Given the description of an element on the screen output the (x, y) to click on. 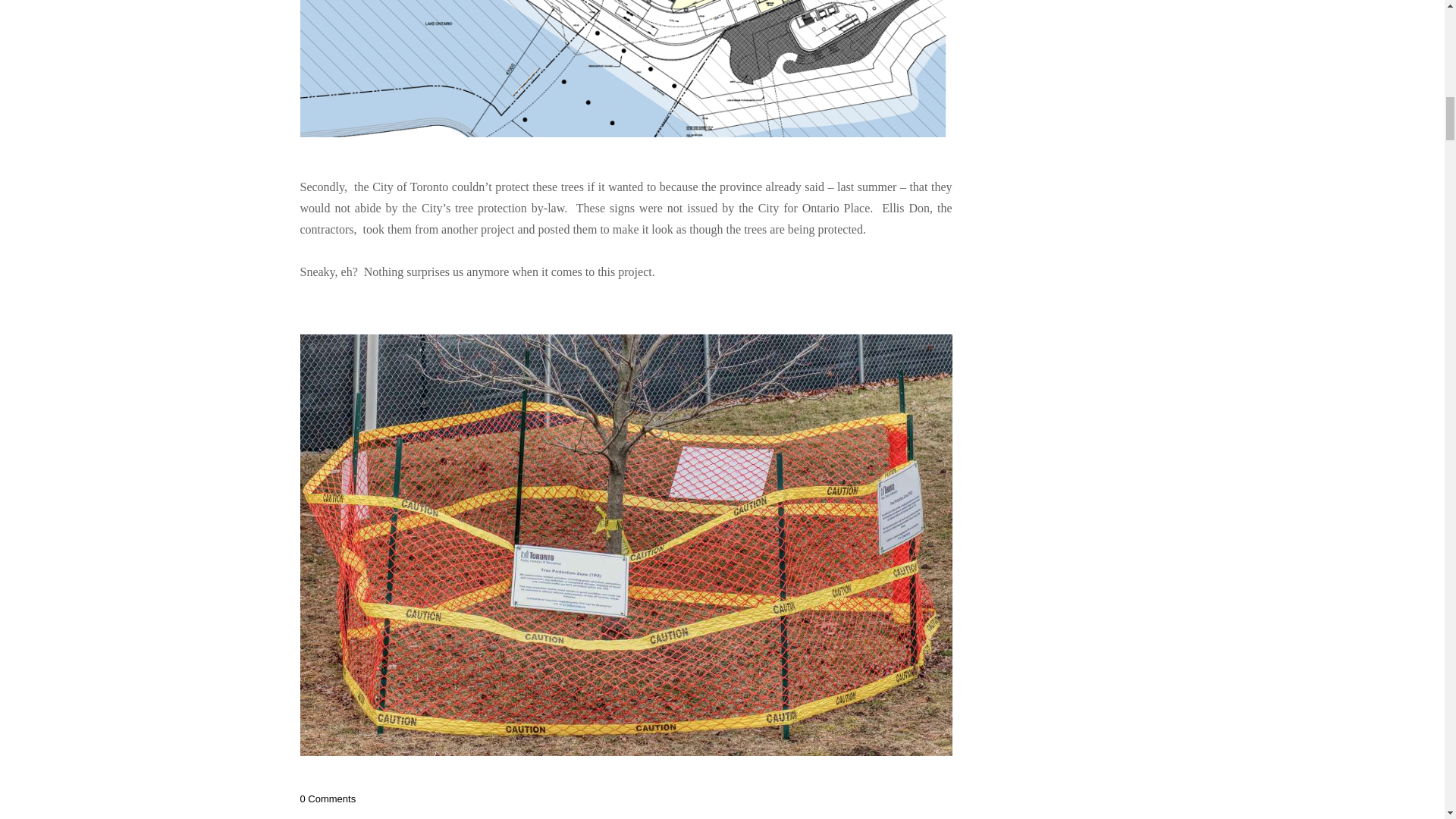
0 Comments (327, 798)
